Given the description of an element on the screen output the (x, y) to click on. 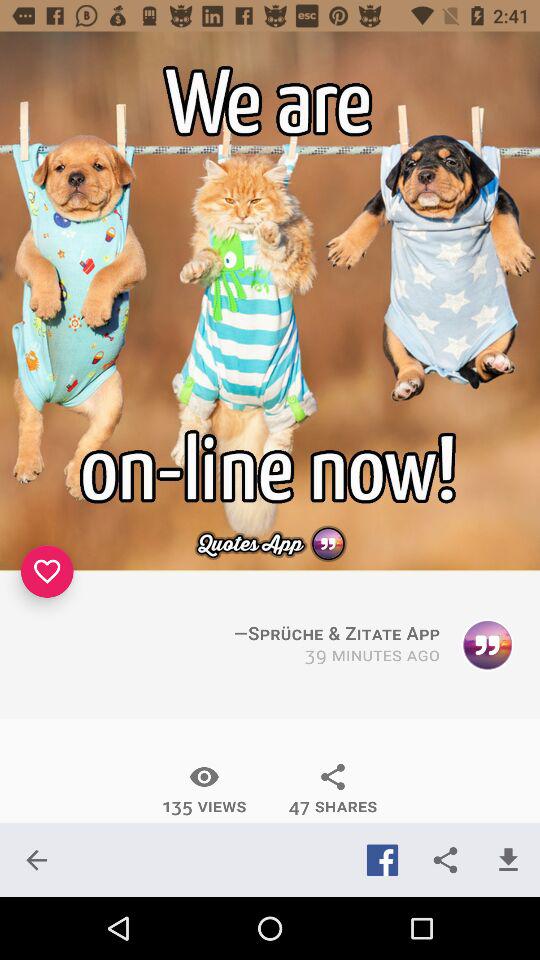
press item next to the 135 views item (332, 789)
